Given the description of an element on the screen output the (x, y) to click on. 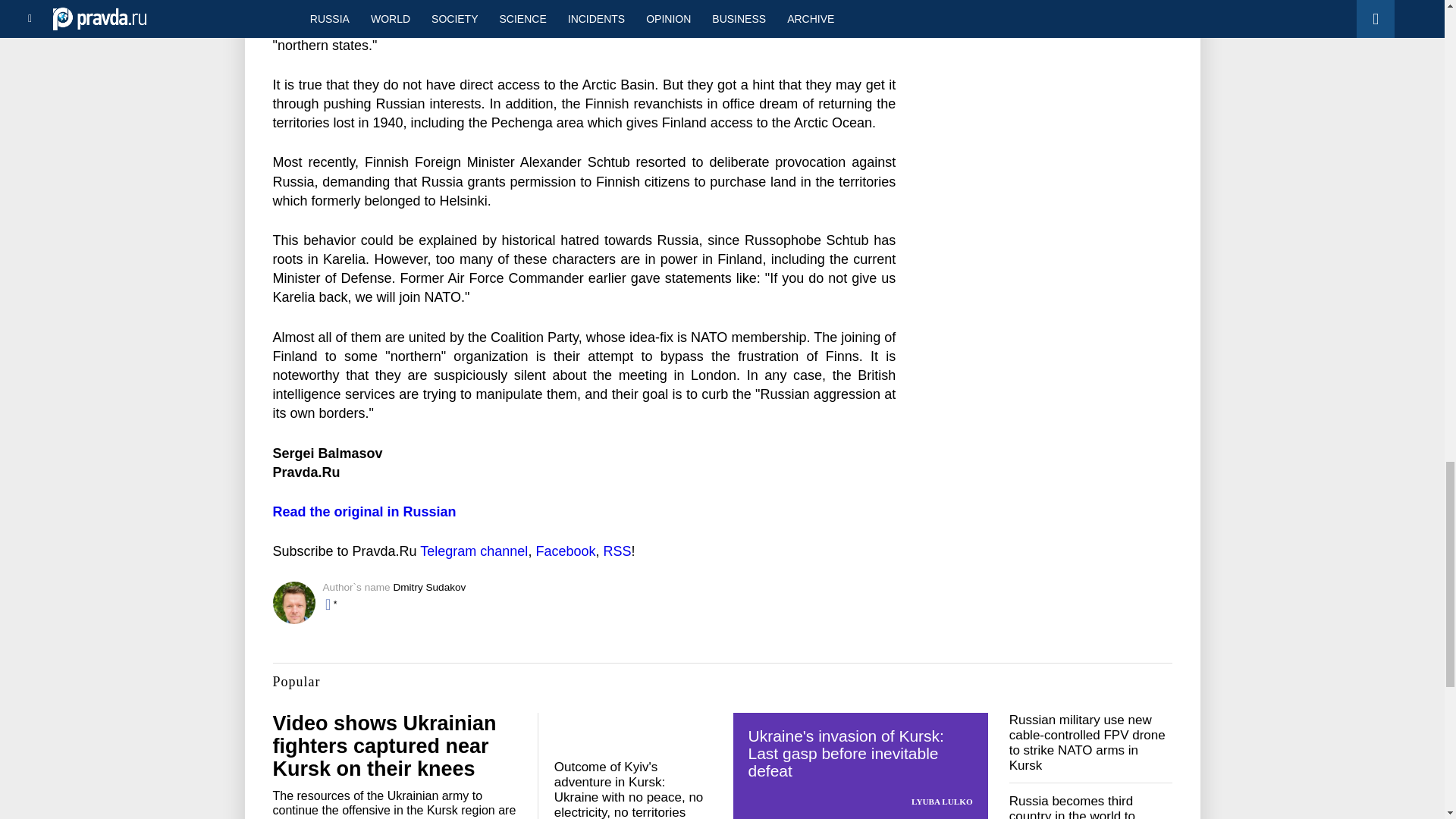
Dmitry Sudakov (429, 586)
Read the original in Russian (365, 511)
Facebook (565, 550)
Telegram channel (473, 550)
RSS (616, 550)
